Given the description of an element on the screen output the (x, y) to click on. 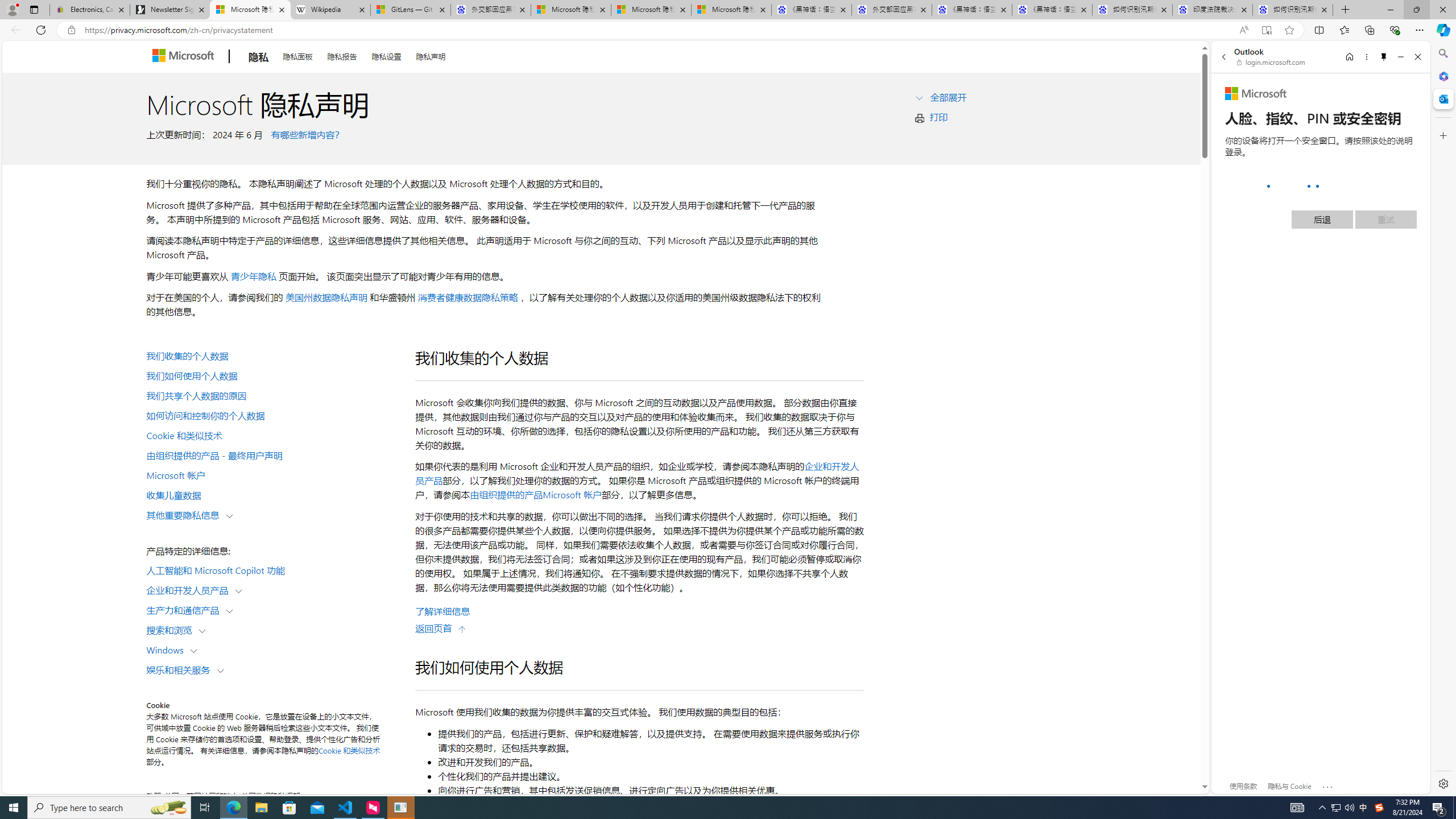
login.microsoft.com (1271, 61)
